Given the description of an element on the screen output the (x, y) to click on. 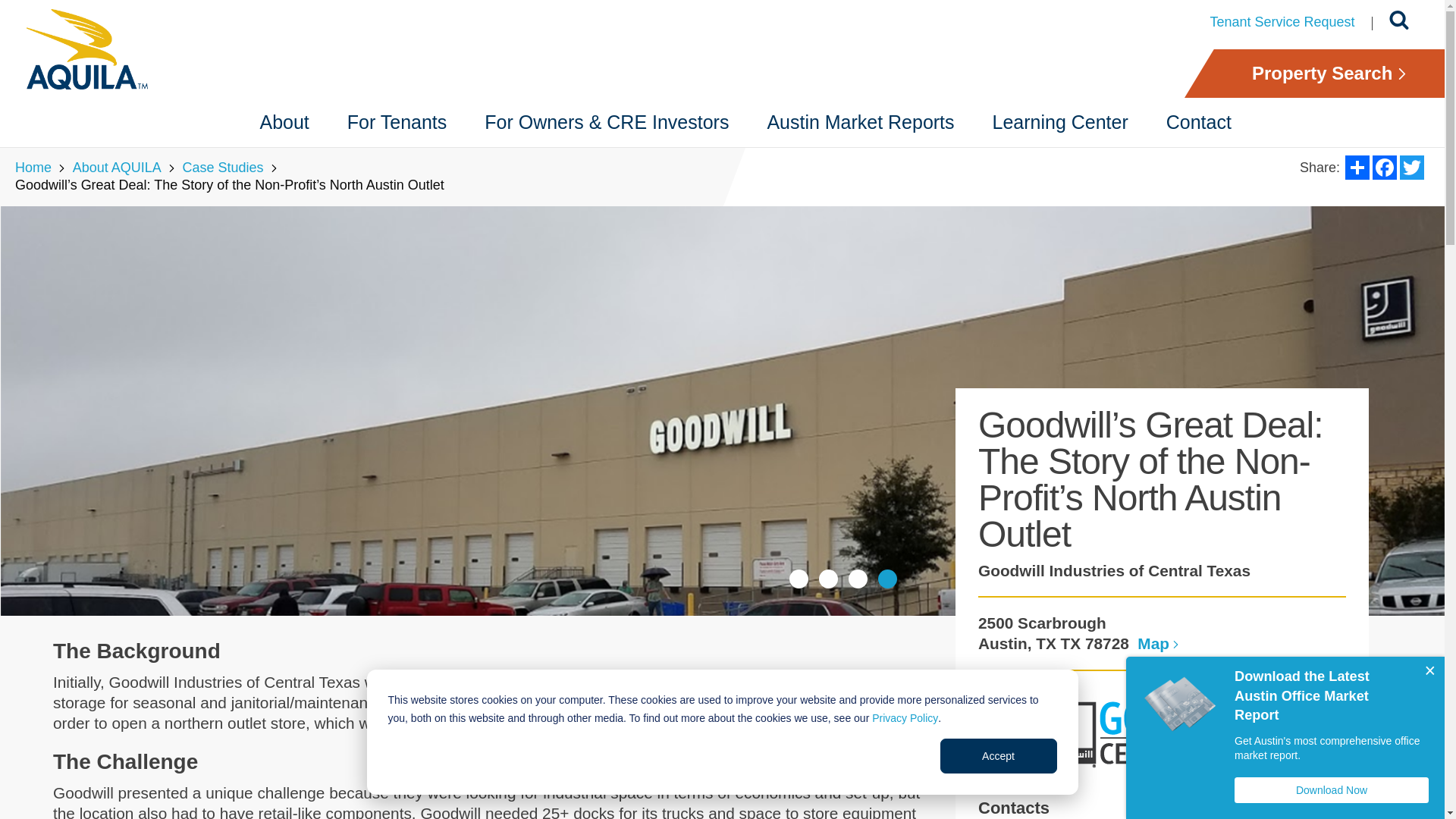
About AQUILA (116, 167)
Tenant Service Request (1282, 22)
About (285, 122)
Home (32, 167)
Tenant Service Request (1282, 22)
For Tenants (397, 122)
Case Studies (223, 167)
